Given the description of an element on the screen output the (x, y) to click on. 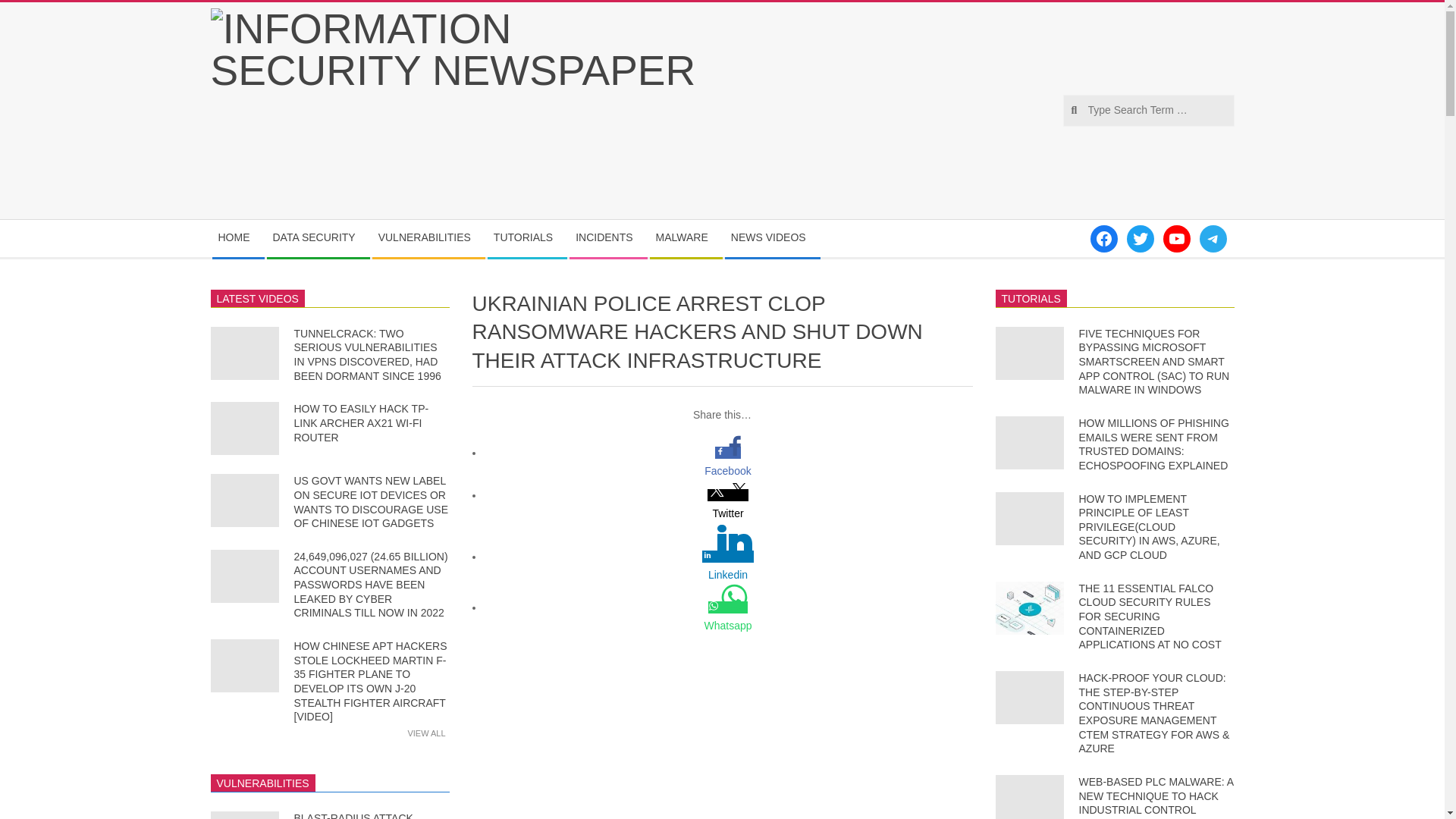
Whatsapp (727, 625)
HOME (237, 238)
Linkedin (727, 574)
TUTORIALS (526, 238)
Facebook (727, 470)
Twitter (727, 513)
DATA SECURITY (317, 238)
VULNERABILITIES (428, 238)
